Given the description of an element on the screen output the (x, y) to click on. 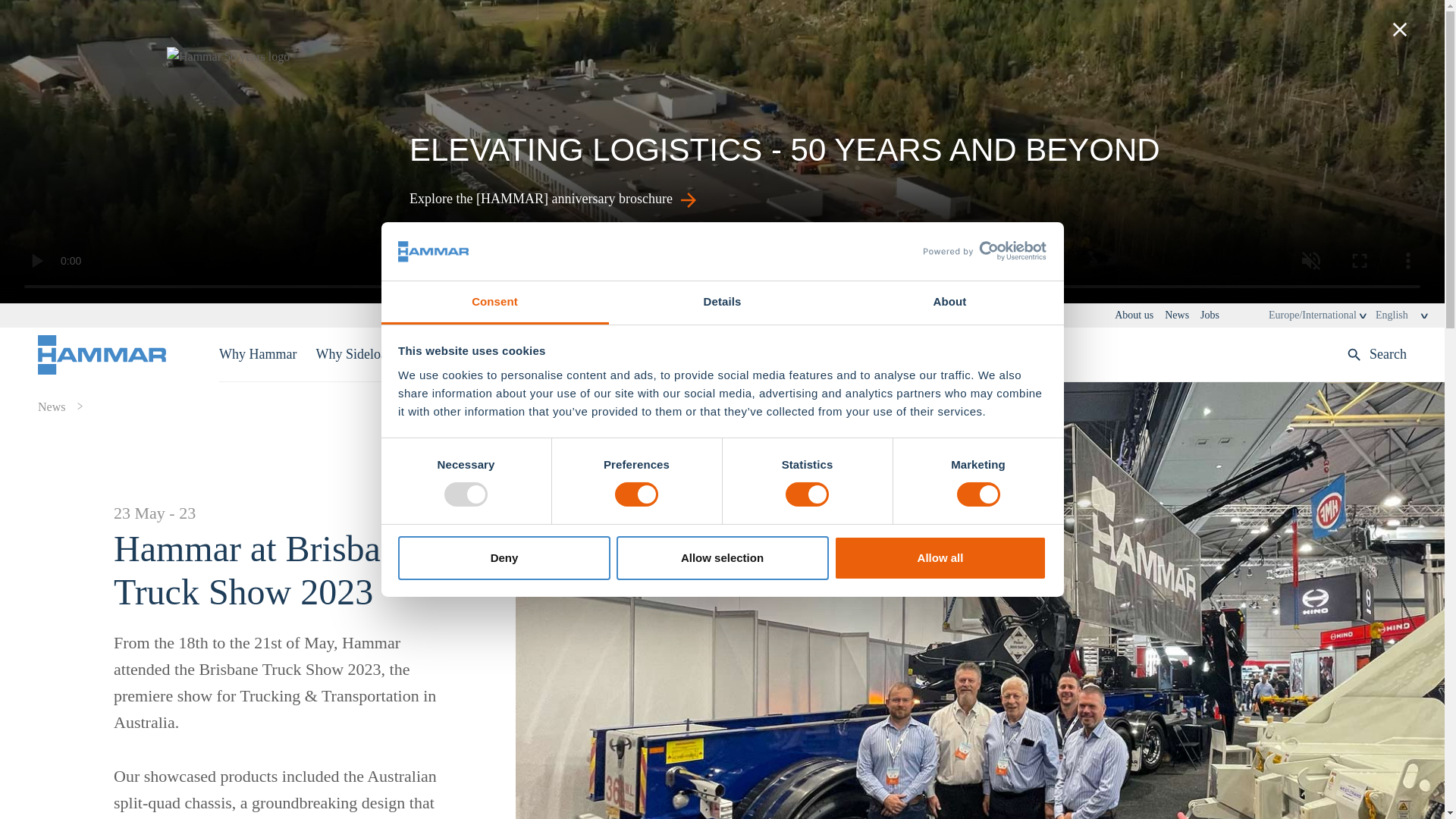
Allow selection (721, 557)
Consent (494, 302)
About (948, 302)
Details (721, 302)
Deny (503, 557)
